Given the description of an element on the screen output the (x, y) to click on. 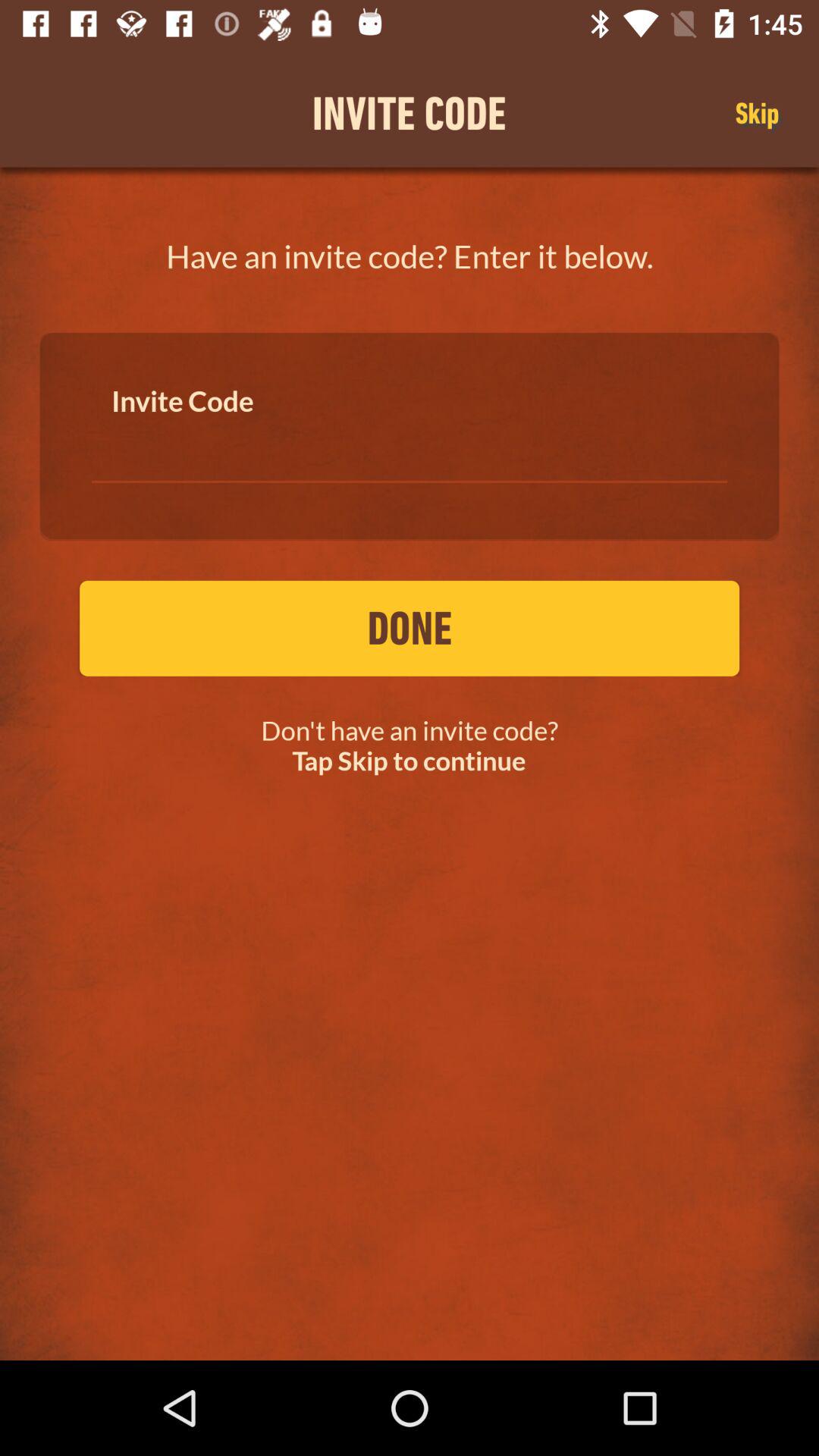
press the icon above the done (409, 446)
